Given the description of an element on the screen output the (x, y) to click on. 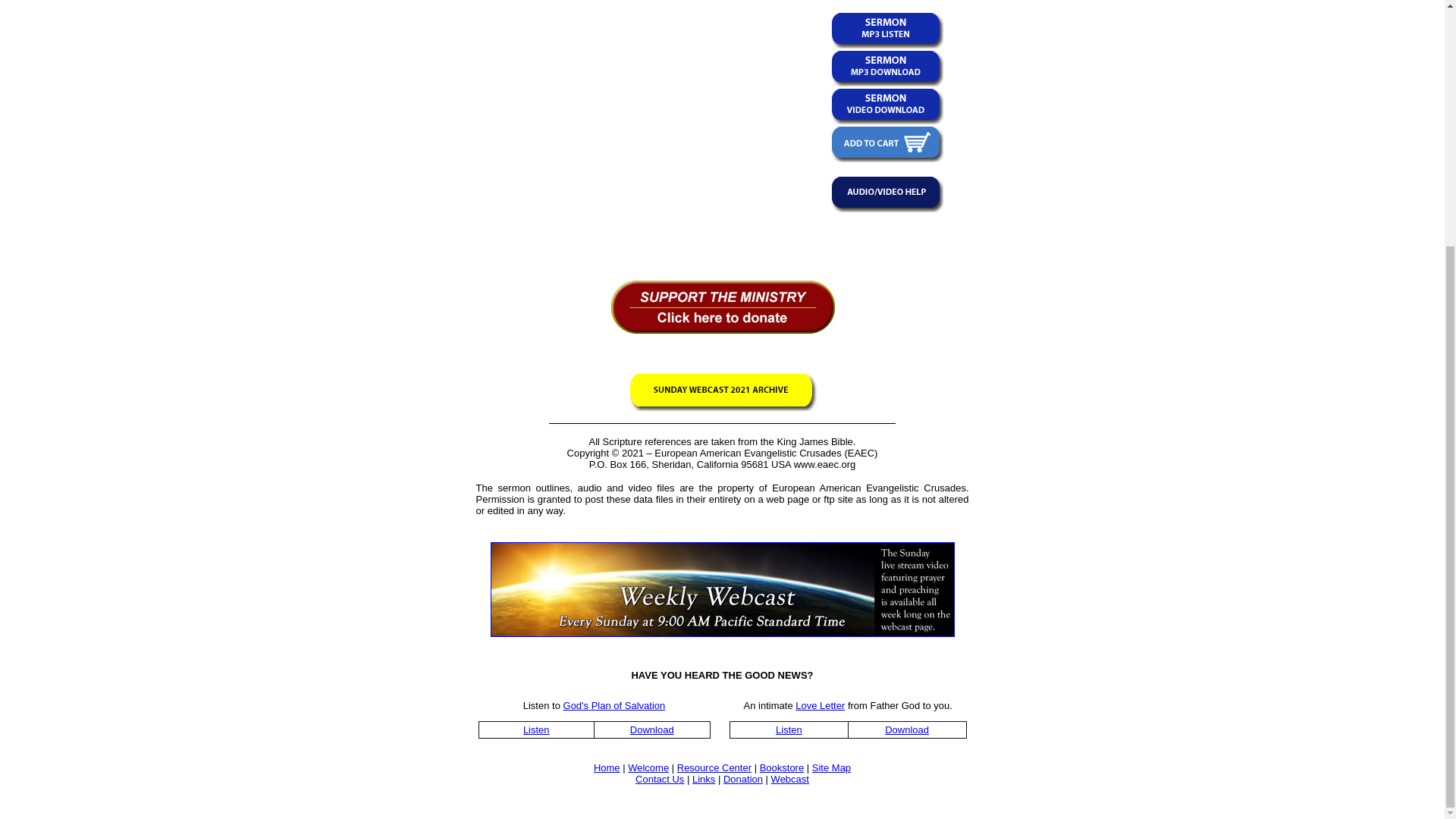
Bookstore (782, 767)
Site Map (831, 767)
Webcast (790, 778)
Download (652, 729)
Home (607, 767)
Welcome (647, 767)
Listen (789, 729)
Contact Us (659, 778)
Love Letter (819, 705)
Download (906, 729)
